Given the description of an element on the screen output the (x, y) to click on. 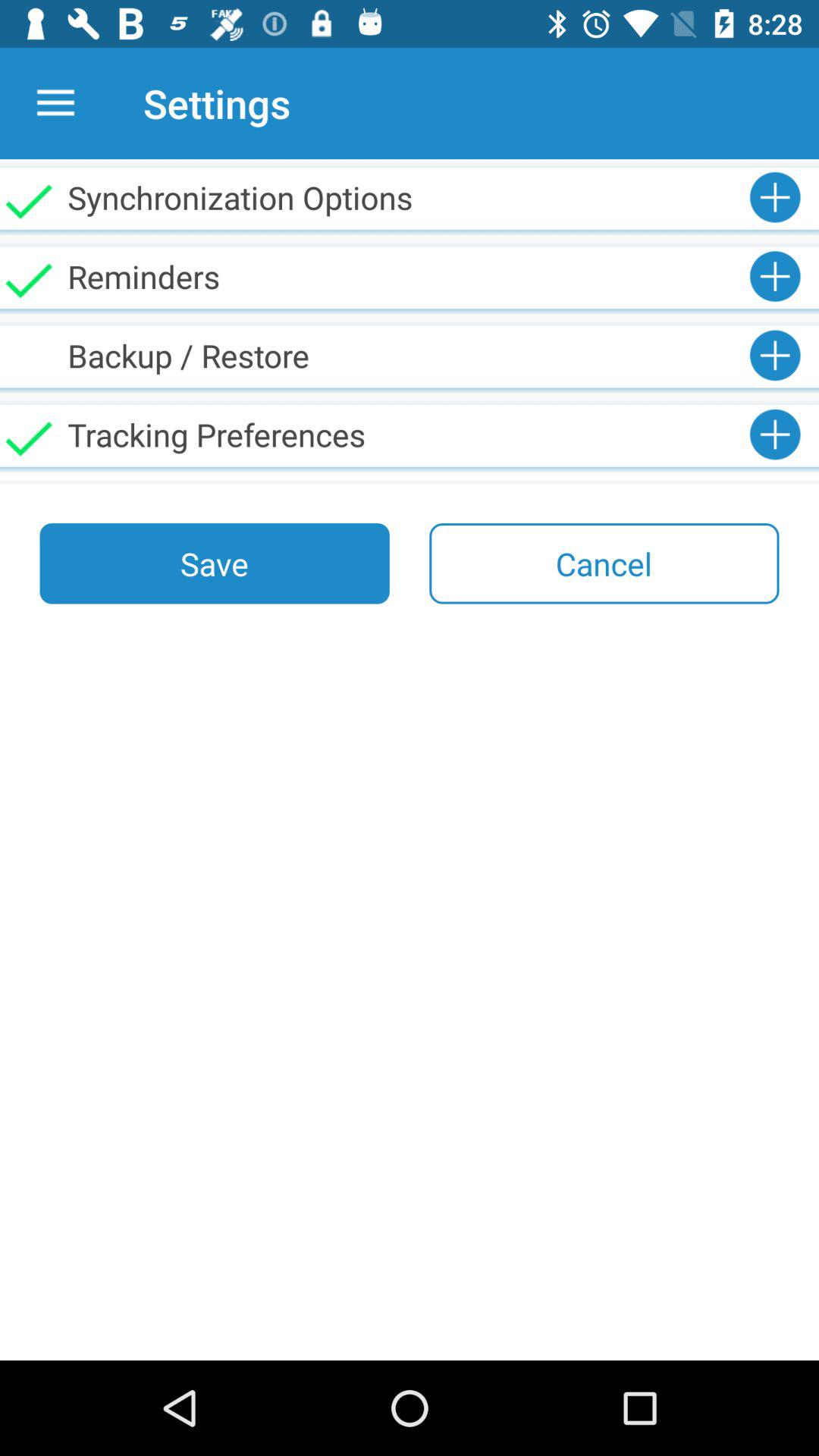
open options (55, 103)
